Given the description of an element on the screen output the (x, y) to click on. 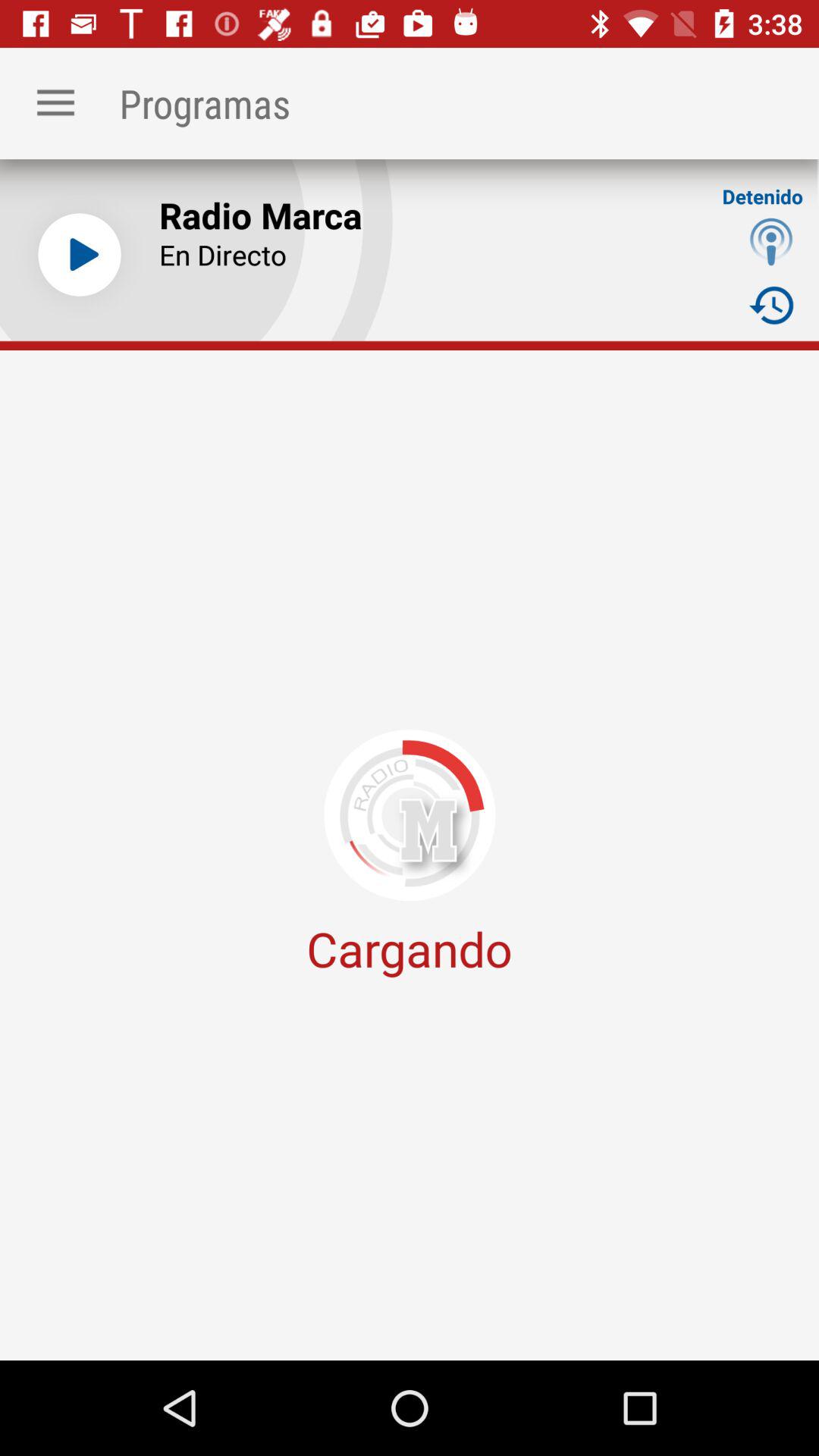
play radio marca (79, 254)
